Given the description of an element on the screen output the (x, y) to click on. 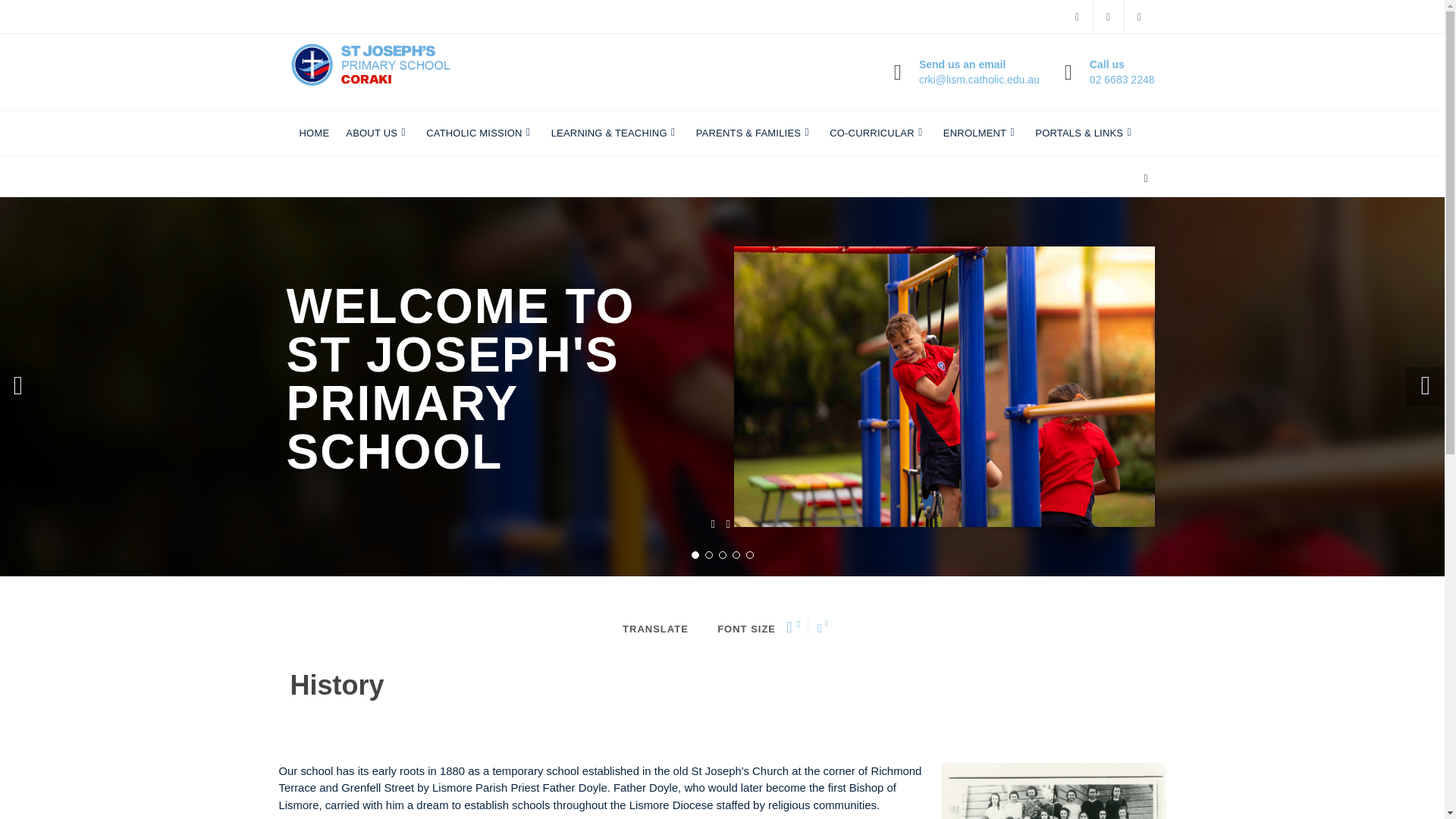
Catholic Mission (1121, 71)
02 6683 2248 (480, 133)
Facebook (1108, 16)
Home (1076, 16)
About Us (313, 133)
HOME (376, 133)
CATHOLIC MISSION (313, 133)
ABOUT US (480, 133)
